Given the description of an element on the screen output the (x, y) to click on. 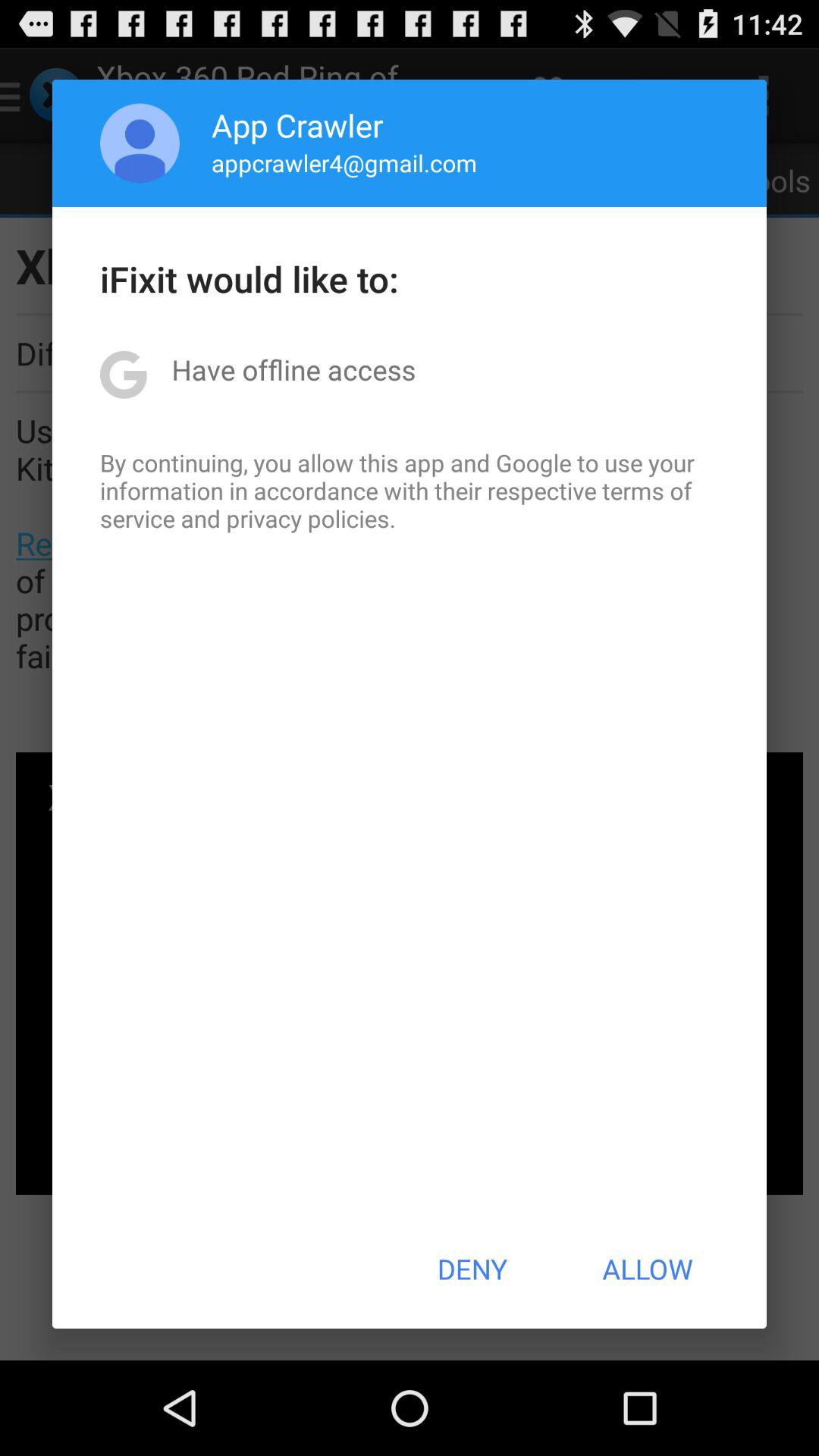
select icon below app crawler item (344, 162)
